Given the description of an element on the screen output the (x, y) to click on. 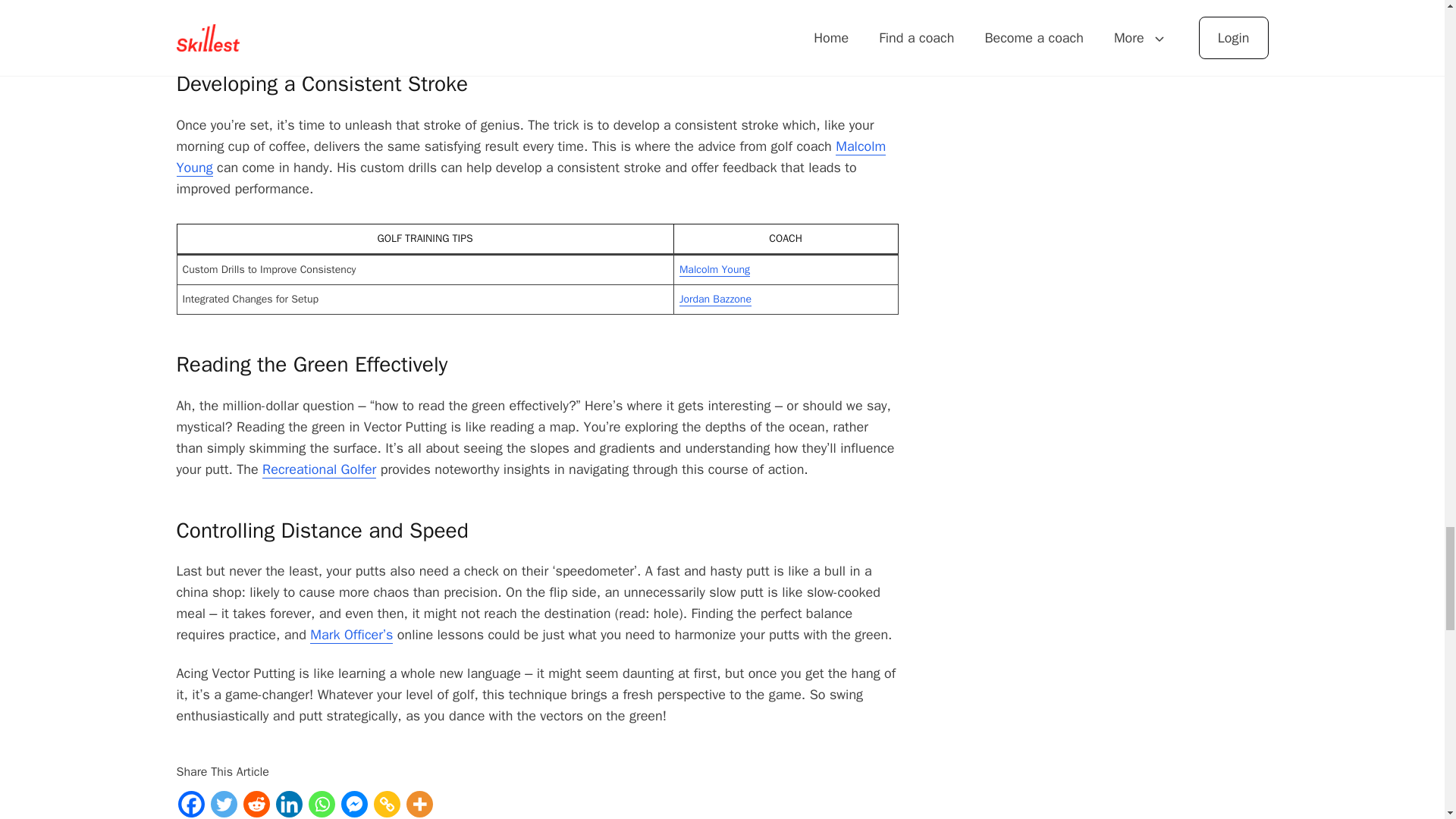
More (419, 804)
Linkedin (289, 804)
Whatsapp (320, 804)
Twitter (224, 804)
Copy Link (385, 804)
Facebook (190, 804)
Reddit (256, 804)
